Given the description of an element on the screen output the (x, y) to click on. 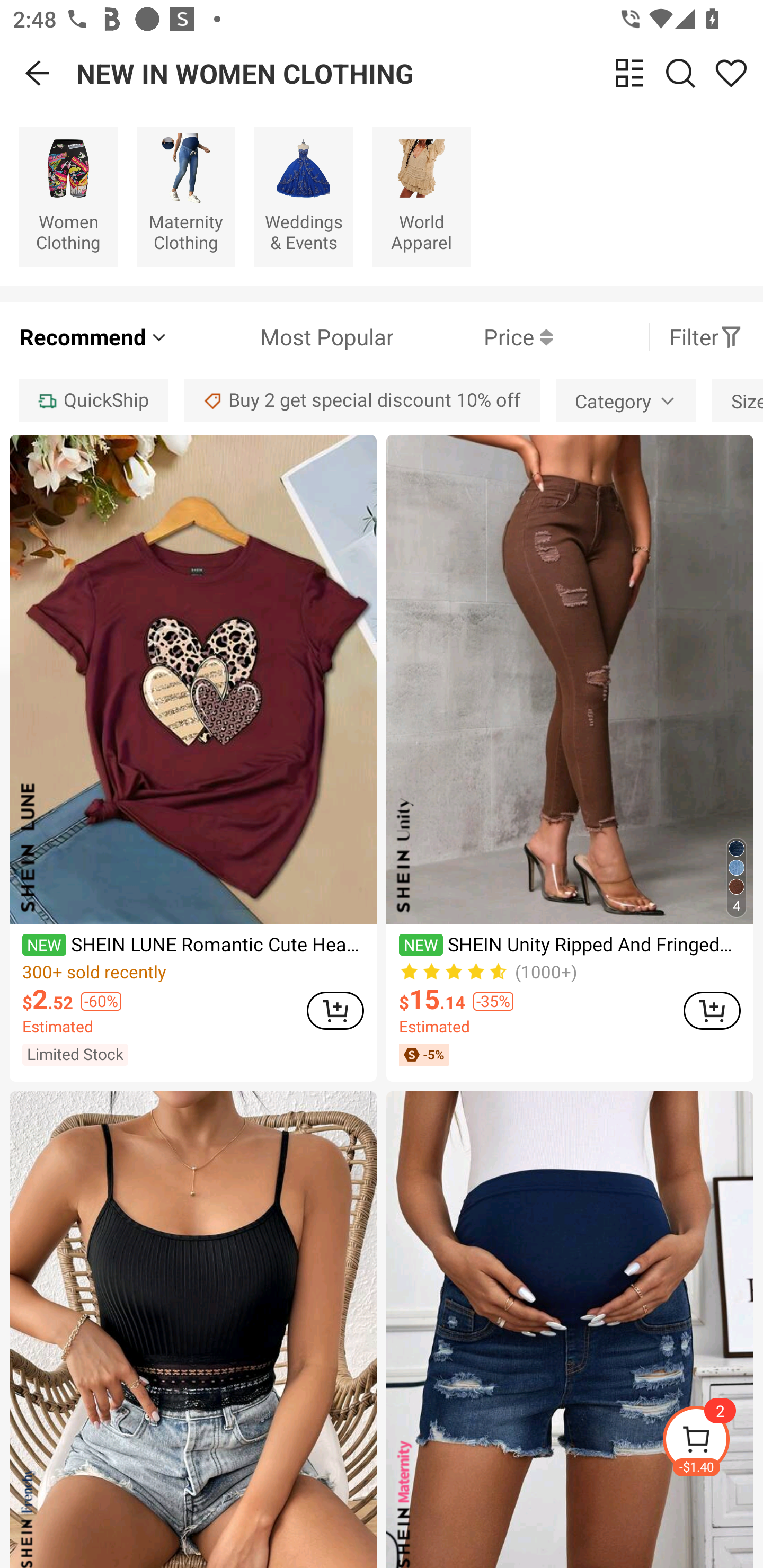
NEW IN WOMEN CLOTHING change view Search Share (419, 72)
change view (629, 72)
Search (679, 72)
Share (730, 72)
Women Clothing (68, 196)
Maternity Clothing (185, 196)
Weddings & Events (303, 196)
World Apparel (421, 196)
Recommend (94, 336)
Most Popular (280, 336)
Price (472, 336)
Filter (705, 336)
QuickShip (93, 400)
Buy 2 get special discount 10% off (361, 400)
Category (625, 400)
ADD TO CART (334, 1010)
ADD TO CART (711, 1010)
-$1.40 (712, 1441)
